Given the description of an element on the screen output the (x, y) to click on. 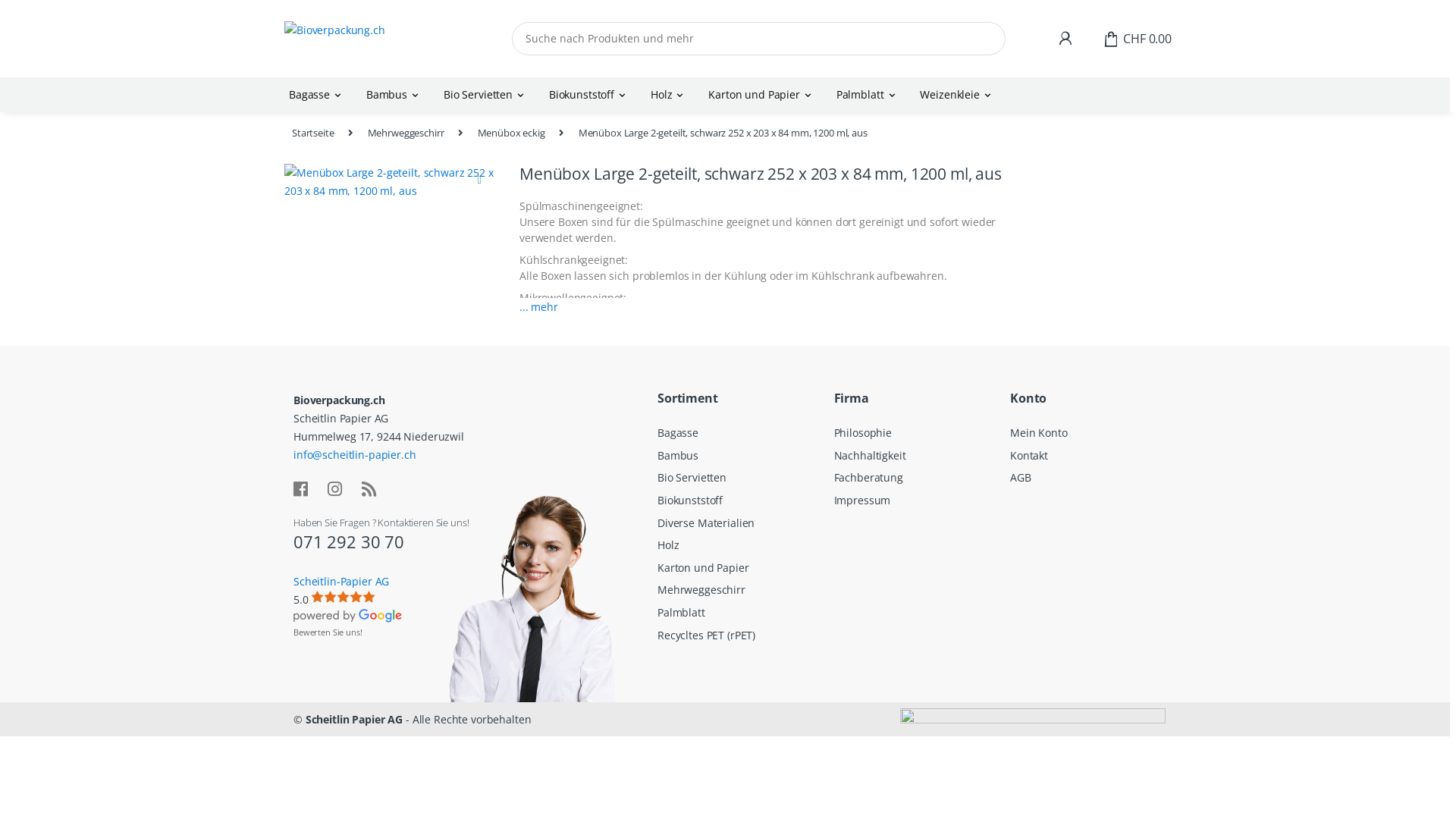
Bagasse Element type: text (316, 94)
Bewerten Sie uns! Element type: text (327, 631)
Mehrweggeschirr Element type: text (701, 589)
Mehrweggeschirr Element type: text (405, 133)
Bio Servietten Element type: text (485, 94)
Biokunststoff Element type: text (589, 94)
Kontakt Element type: text (1029, 455)
Philosophie Element type: text (862, 432)
Weizenkleie Element type: text (956, 94)
Palmblatt Element type: text (681, 612)
Karton und Papier Element type: text (761, 94)
Diverse Materialien Element type: text (705, 522)
Holz Element type: text (667, 544)
Karton und Papier Element type: text (703, 567)
Mein Konto Element type: text (1038, 432)
Bambus Element type: text (394, 94)
Palmblatt Element type: text (867, 94)
Biokunststoff Element type: text (689, 499)
Recycltes PET (rPET) Element type: text (706, 634)
Scheitlin Papier AG Element type: text (353, 719)
... mehr Element type: text (538, 314)
Startseite Element type: text (312, 133)
Holz Element type: text (668, 94)
AGB Element type: text (1020, 477)
Fachberatung Element type: text (868, 477)
info@scheitlin-papier.ch Element type: text (354, 454)
Scheitlin-Papier AG Element type: text (341, 581)
Bio Servietten Element type: text (691, 477)
Bambus Element type: text (677, 455)
CHF 0.00 Element type: text (1136, 38)
Bagasse Element type: text (677, 432)
Impressum Element type: text (862, 499)
Nachhaltigkeit Element type: text (870, 455)
